Given the description of an element on the screen output the (x, y) to click on. 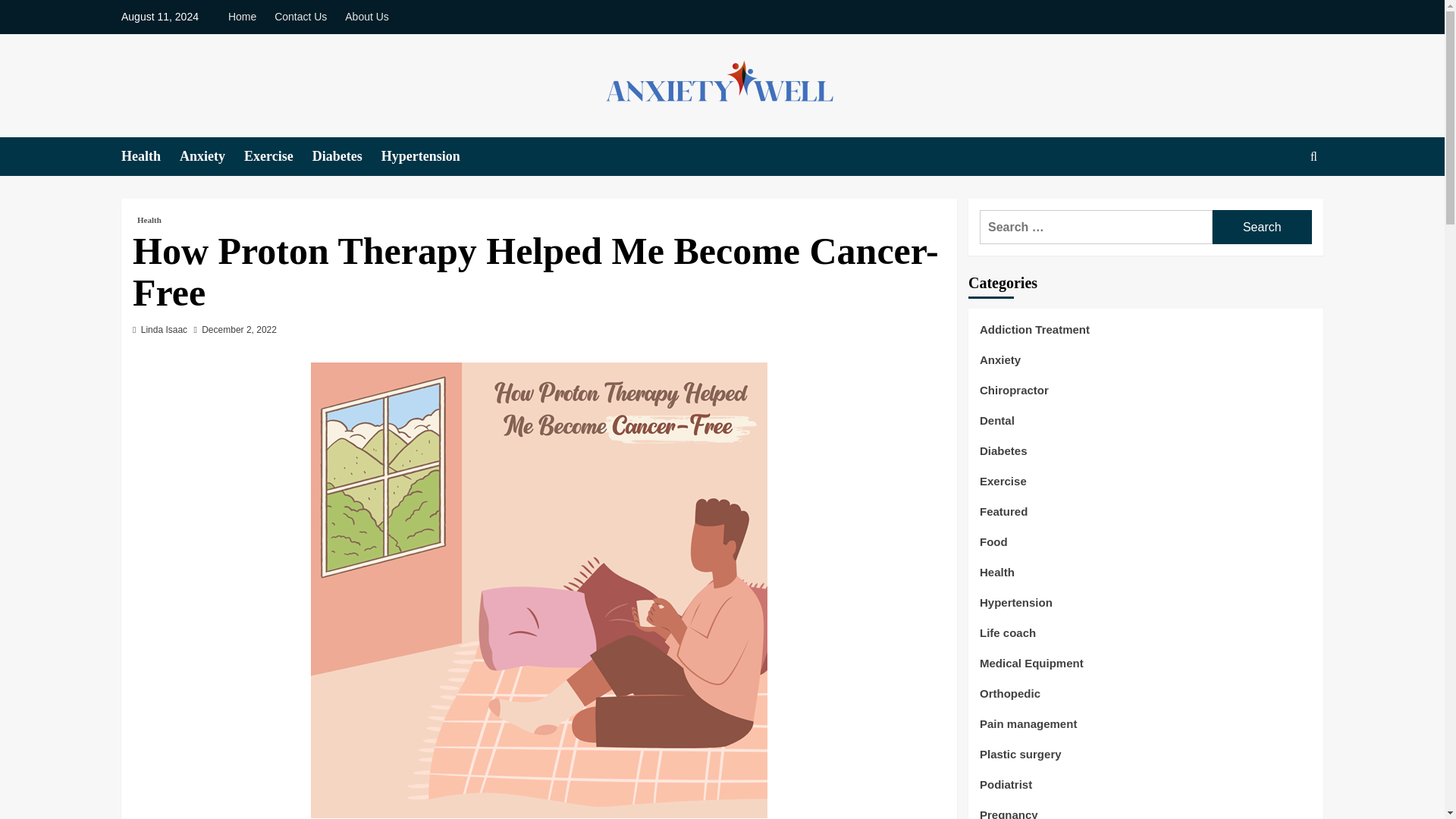
Contact Us (300, 17)
Search (1261, 226)
Health (996, 577)
Medical Equipment (1031, 668)
Pain management (1028, 729)
Home (245, 17)
Anxiety (999, 365)
Diabetes (1003, 456)
Hypertension (1015, 608)
Orthopedic (1010, 699)
